Given the description of an element on the screen output the (x, y) to click on. 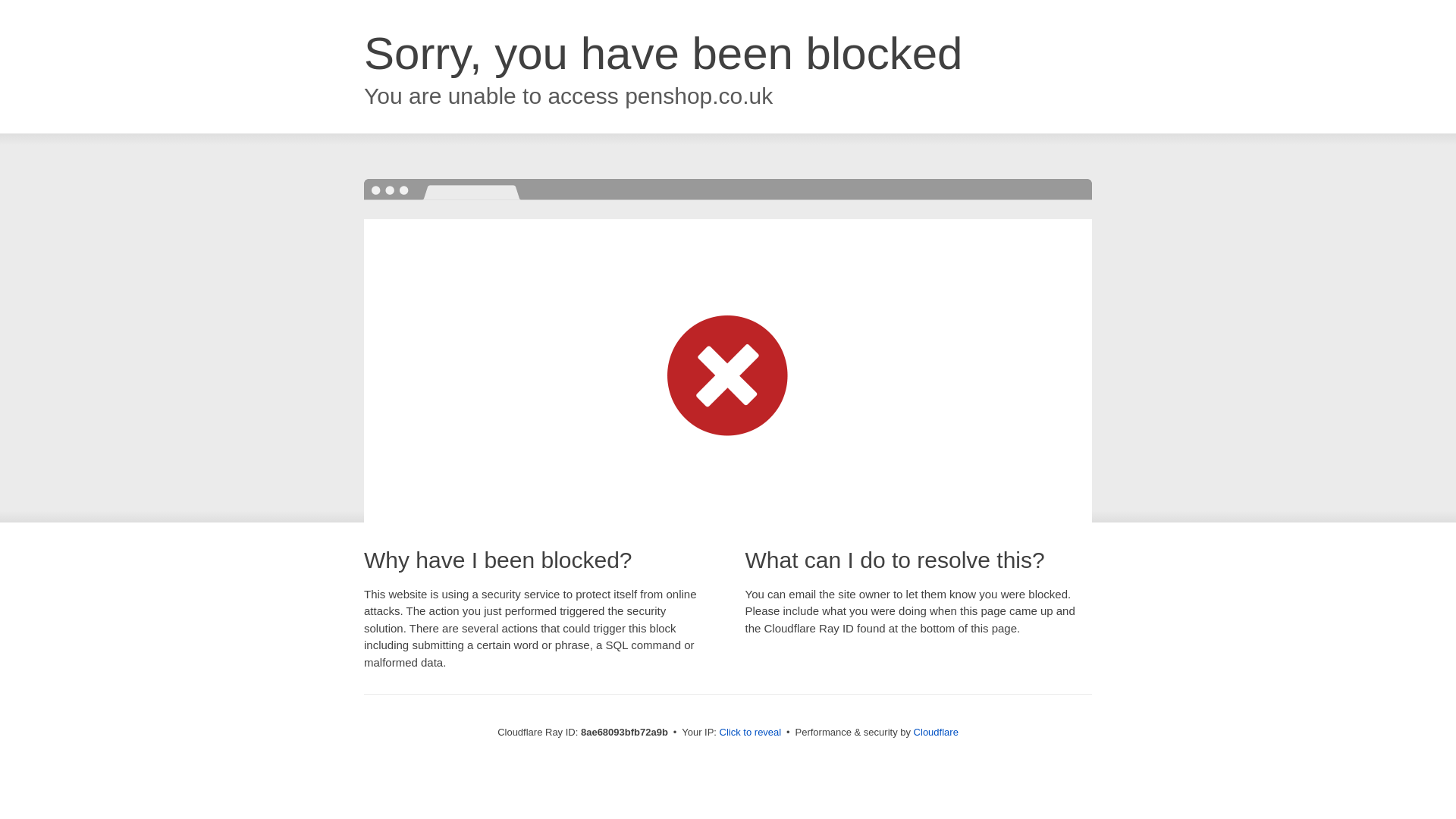
Click to reveal (750, 732)
Cloudflare (936, 731)
